Given the description of an element on the screen output the (x, y) to click on. 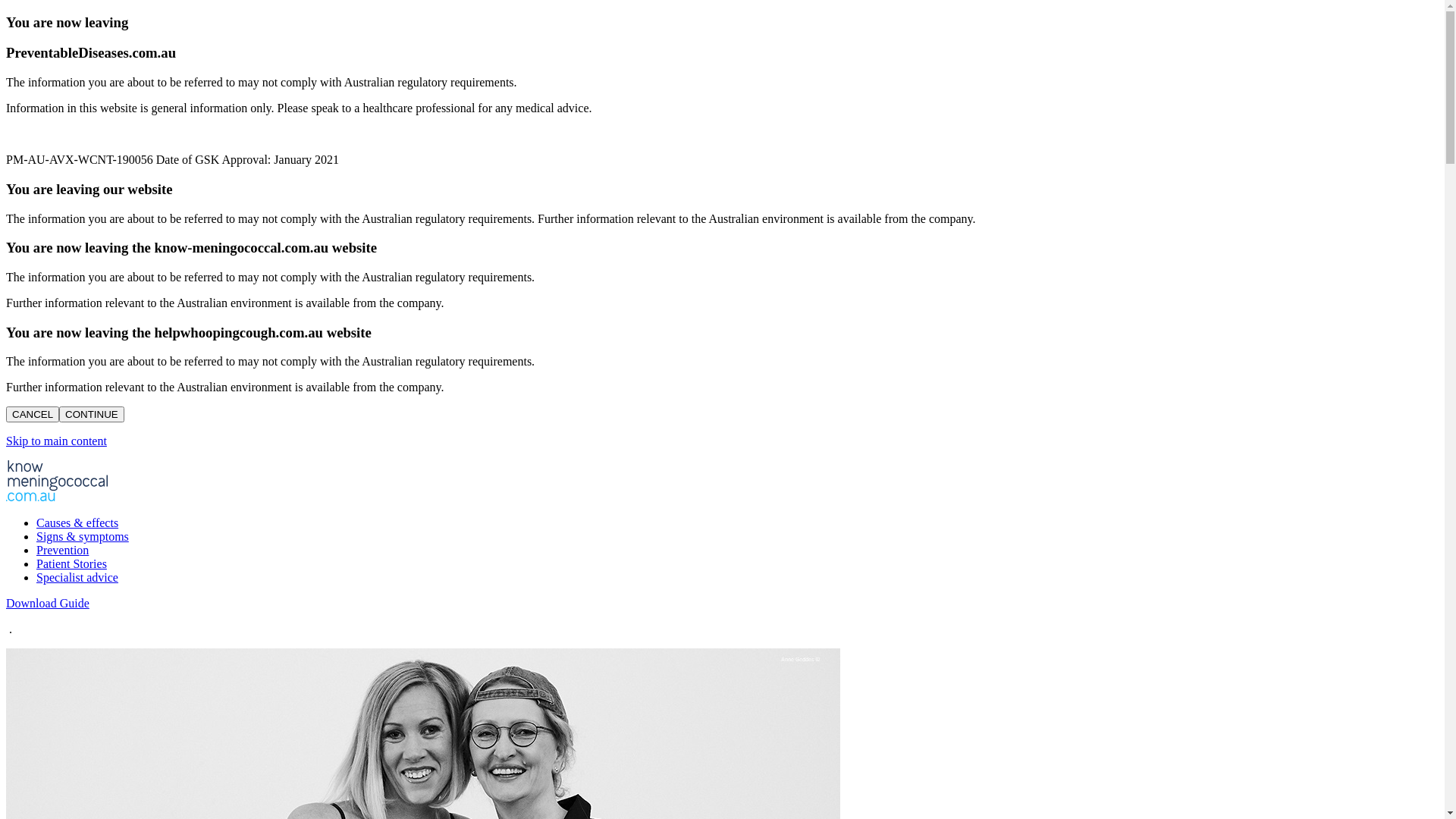
CONTINUE Element type: text (91, 414)
CANCEL Element type: text (32, 414)
Causes & effects Element type: text (77, 522)
Prevention Element type: text (62, 549)
Specialist advice Element type: text (77, 577)
Signs & symptoms Element type: text (82, 536)
Download Guide Element type: text (47, 602)
knowmeningococcal-logo Element type: hover (56, 480)
Skip to main content Element type: text (56, 440)
Patient Stories Element type: text (71, 563)
